Given the description of an element on the screen output the (x, y) to click on. 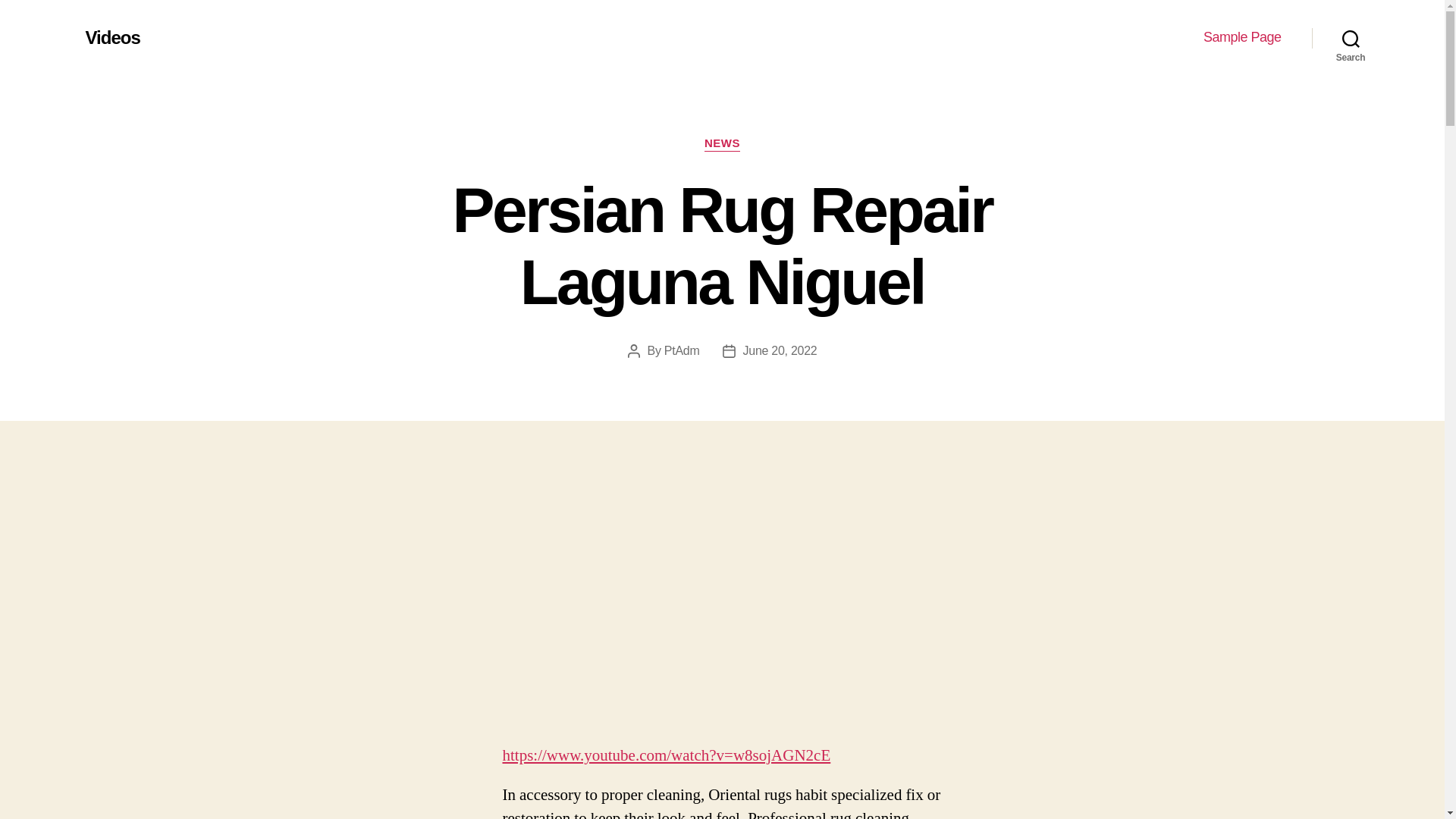
PtAdm (681, 350)
YouTube video player (722, 604)
June 20, 2022 (779, 350)
Videos (111, 37)
Sample Page (1242, 37)
Search (1350, 37)
NEWS (721, 143)
